Given the description of an element on the screen output the (x, y) to click on. 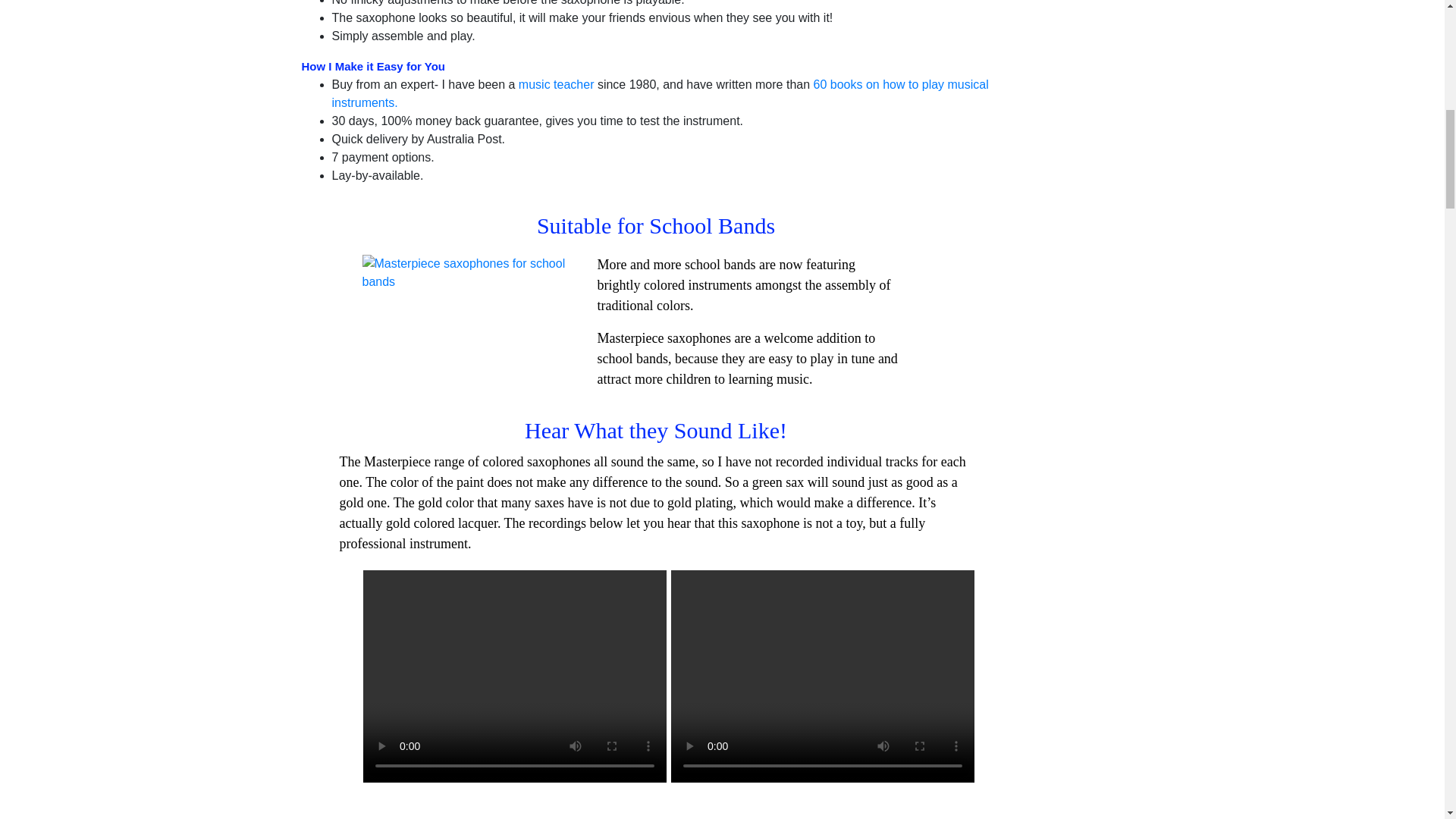
60 books on how to play musical instruments. (659, 92)
music teacher (556, 83)
